Given the description of an element on the screen output the (x, y) to click on. 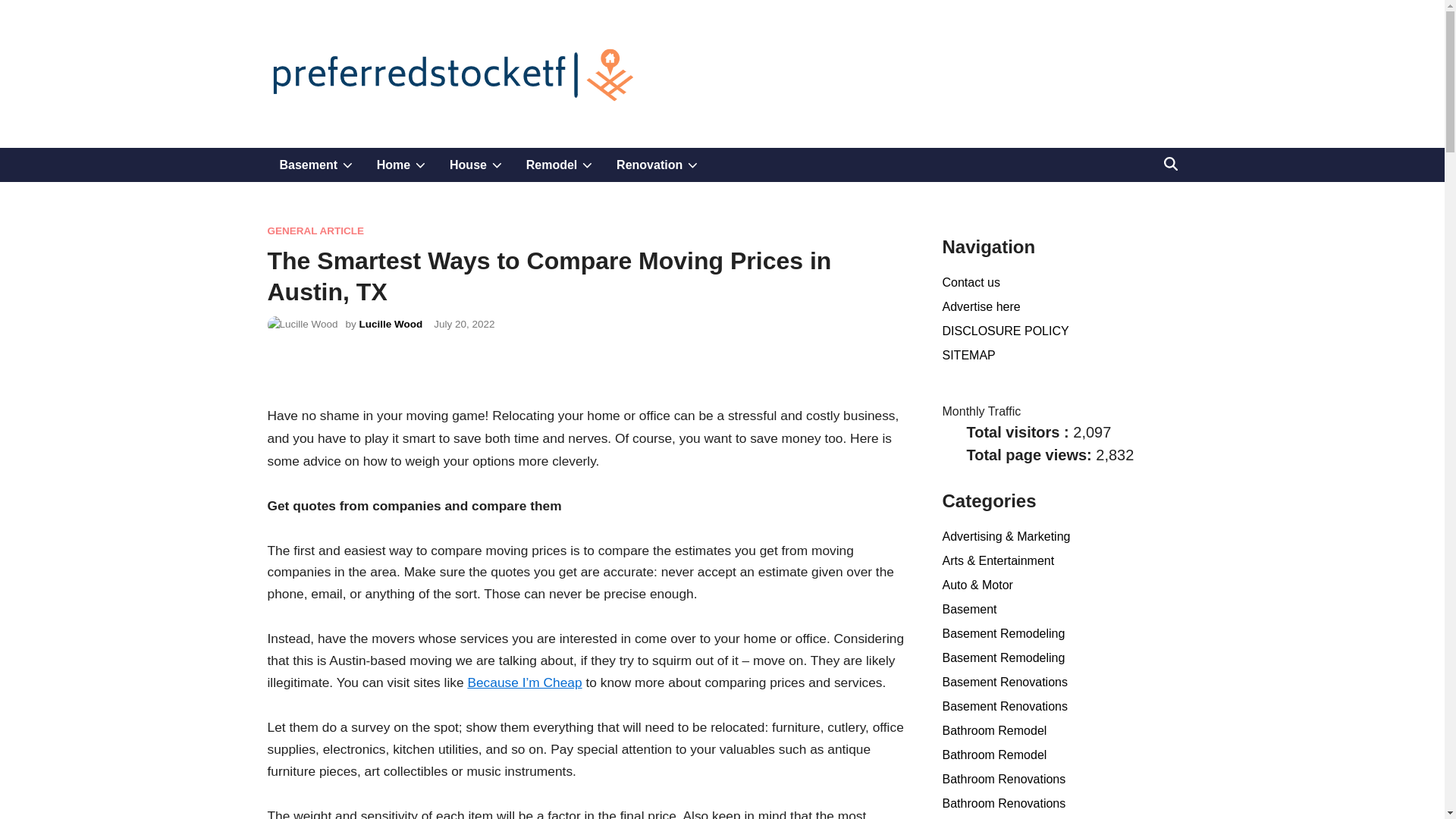
GENERAL ARTICLE (315, 230)
July 20, 2022 (657, 164)
Lucille Wood (464, 324)
